Given the description of an element on the screen output the (x, y) to click on. 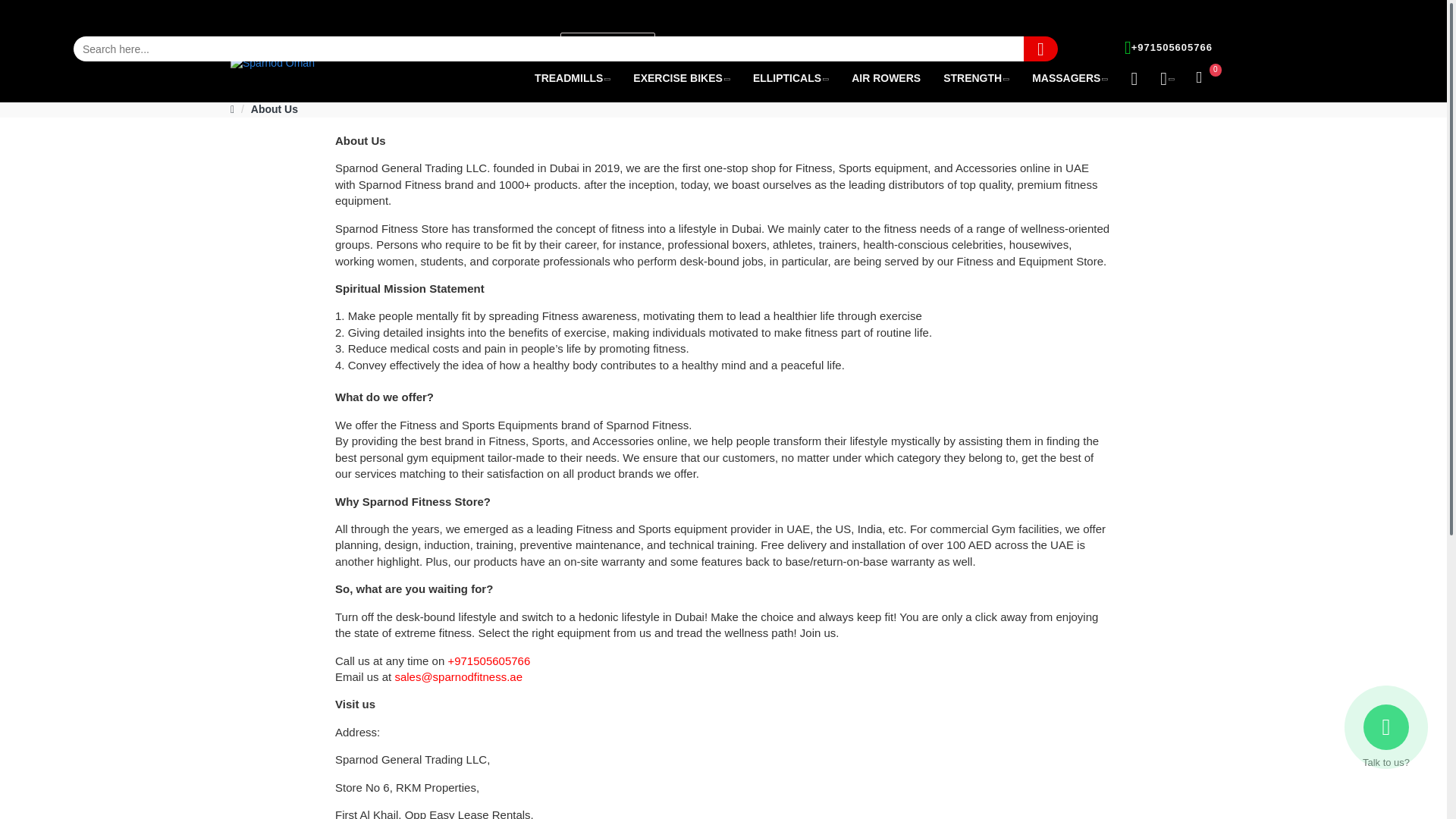
TREADMILLS (571, 78)
ELLIPTICALS (790, 78)
MASSAGERS (1069, 78)
STRENGTH (975, 78)
AIR ROWERS (885, 78)
EXERCISE BIKES (681, 78)
Sparnod Oman (272, 64)
